Given the description of an element on the screen output the (x, y) to click on. 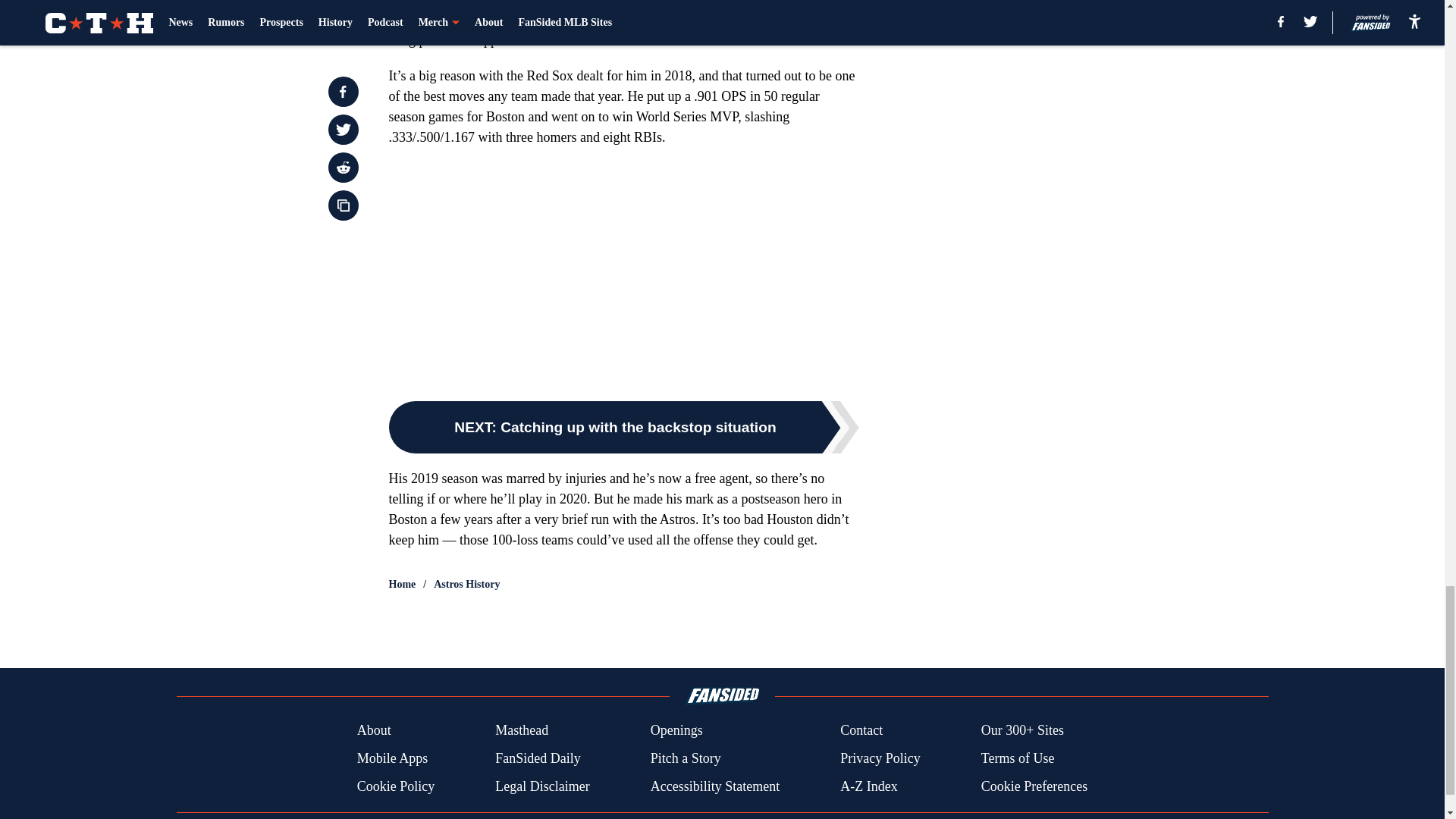
About (373, 730)
NEXT: Catching up with the backstop situation (623, 427)
Contact (861, 730)
Masthead (521, 730)
Openings (676, 730)
Home (401, 584)
Astros History (466, 584)
